Given the description of an element on the screen output the (x, y) to click on. 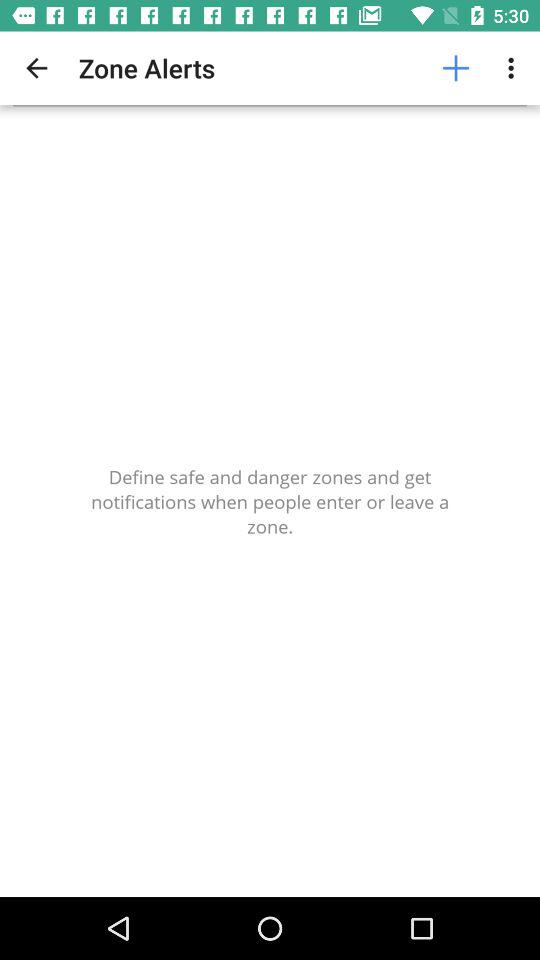
press the icon next to the zone alerts (36, 68)
